Given the description of an element on the screen output the (x, y) to click on. 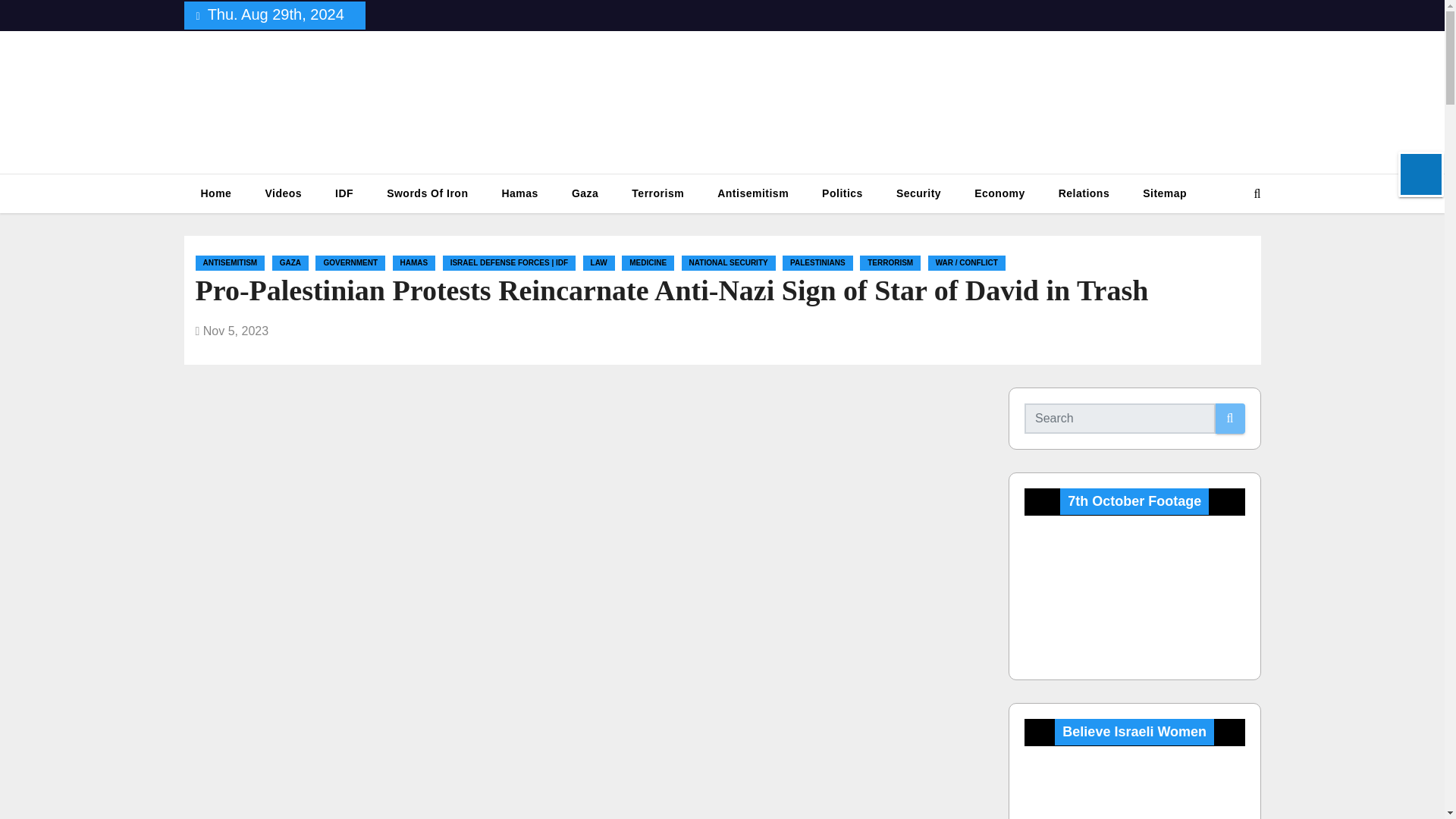
IDF (343, 193)
Antisemitism (752, 193)
Relations (1084, 193)
Gaza (584, 193)
ANTISEMITISM (229, 263)
Hamas (519, 193)
Home (215, 193)
Security (918, 193)
Sitemap (1164, 193)
Hamas (519, 193)
